Given the description of an element on the screen output the (x, y) to click on. 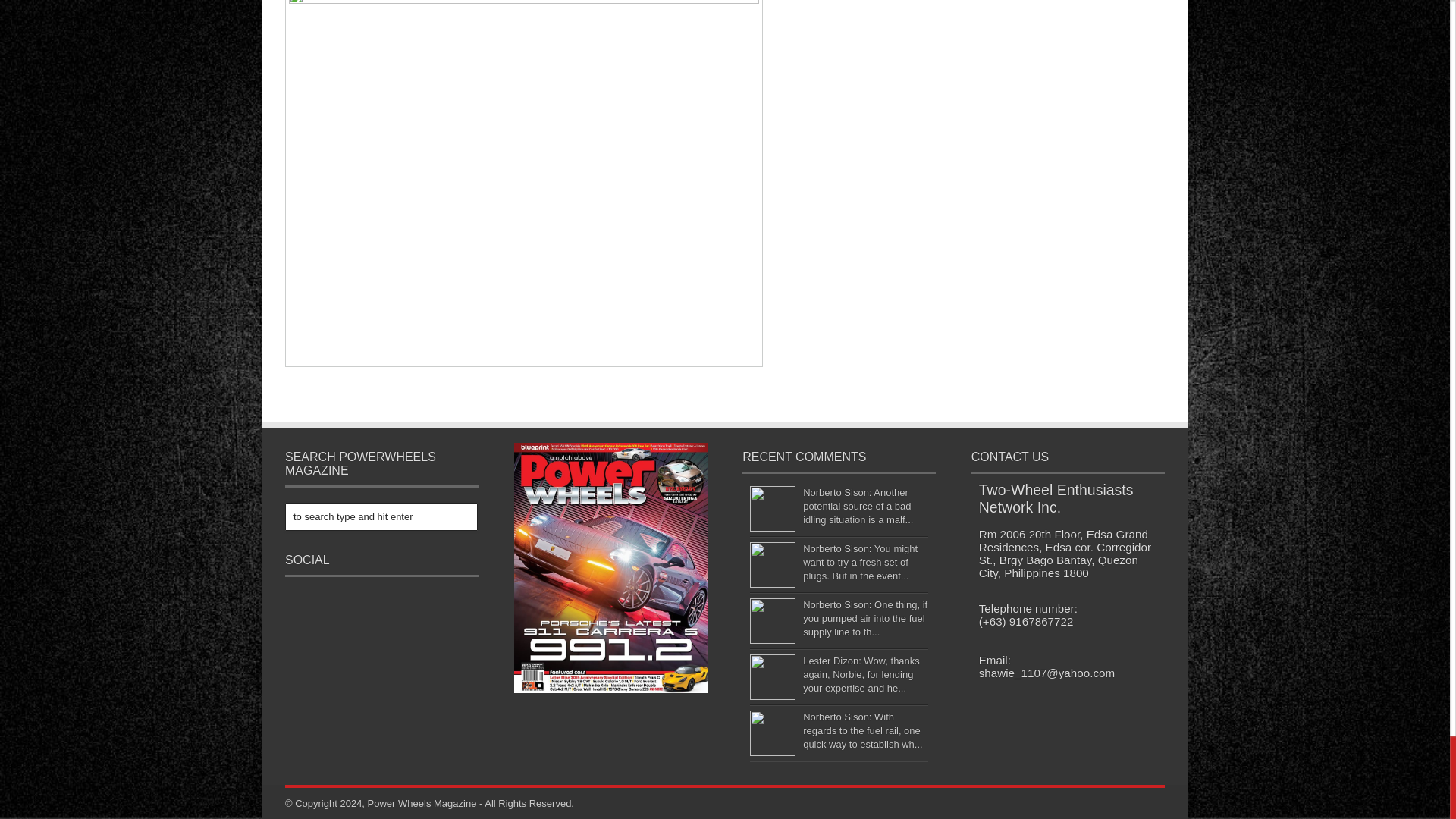
to search type and hit enter (381, 516)
